Given the description of an element on the screen output the (x, y) to click on. 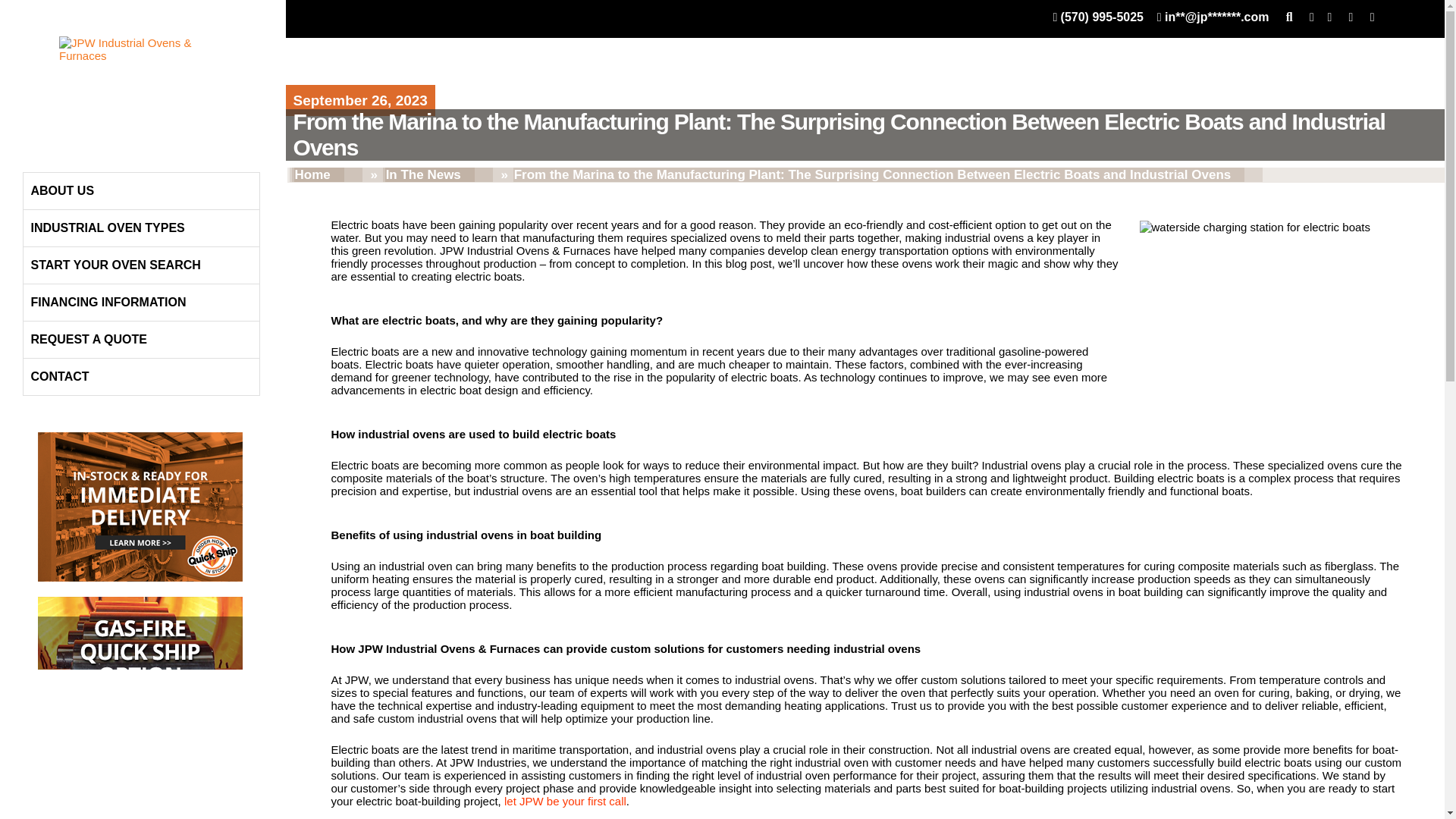
Home (318, 174)
REQUEST A QUOTE (141, 339)
ABOUT US (141, 190)
In The News (429, 174)
Skip to content (60, 150)
CONTACT (141, 376)
START YOUR OVEN SEARCH (141, 265)
Skip to content (60, 150)
JPW Industrial Ovens and Furnaces (140, 81)
INDUSTRIAL OVEN TYPES (141, 227)
